Given the description of an element on the screen output the (x, y) to click on. 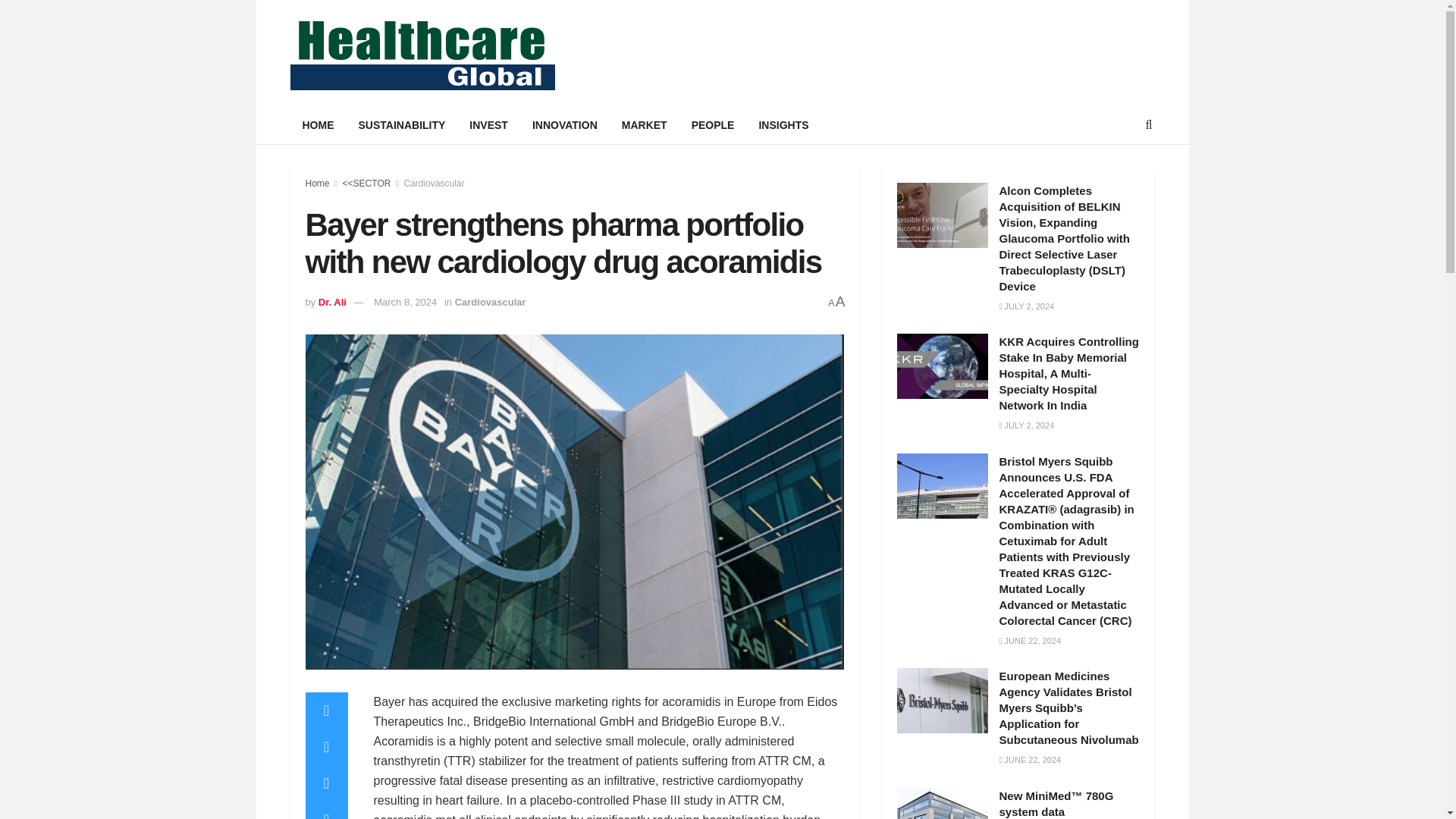
INVEST (488, 125)
HOME (317, 125)
INNOVATION (564, 125)
Cardiovascular (489, 301)
March 8, 2024 (405, 301)
Home (316, 183)
SUSTAINABILITY (401, 125)
MARKET (644, 125)
Dr. Ali (332, 301)
INSIGHTS (783, 125)
Cardiovascular (433, 183)
PEOPLE (712, 125)
